Given the description of an element on the screen output the (x, y) to click on. 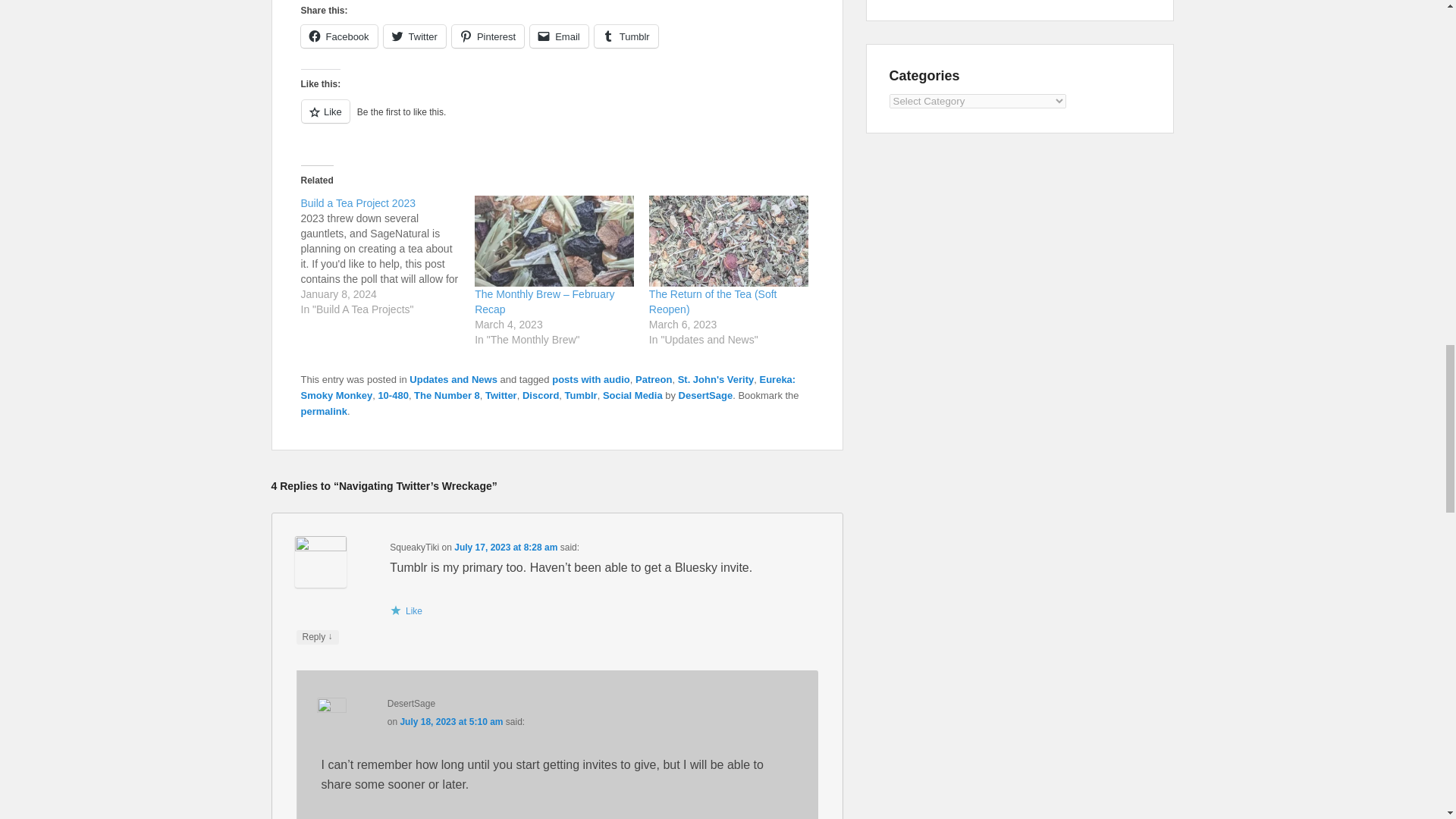
Build a Tea Project 2023 (356, 203)
Click to share on Pinterest (487, 36)
Build a Tea Project 2023 (356, 203)
Like or Reblog (555, 119)
Click to email a link to a friend (558, 36)
Email (558, 36)
Patreon (652, 378)
posts with audio (590, 378)
Facebook (338, 36)
The Number 8 (446, 395)
Pinterest (487, 36)
Click to share on Twitter (414, 36)
Build a Tea Project 2023 (386, 255)
Twitter (414, 36)
Click to share on Tumblr (626, 36)
